Given the description of an element on the screen output the (x, y) to click on. 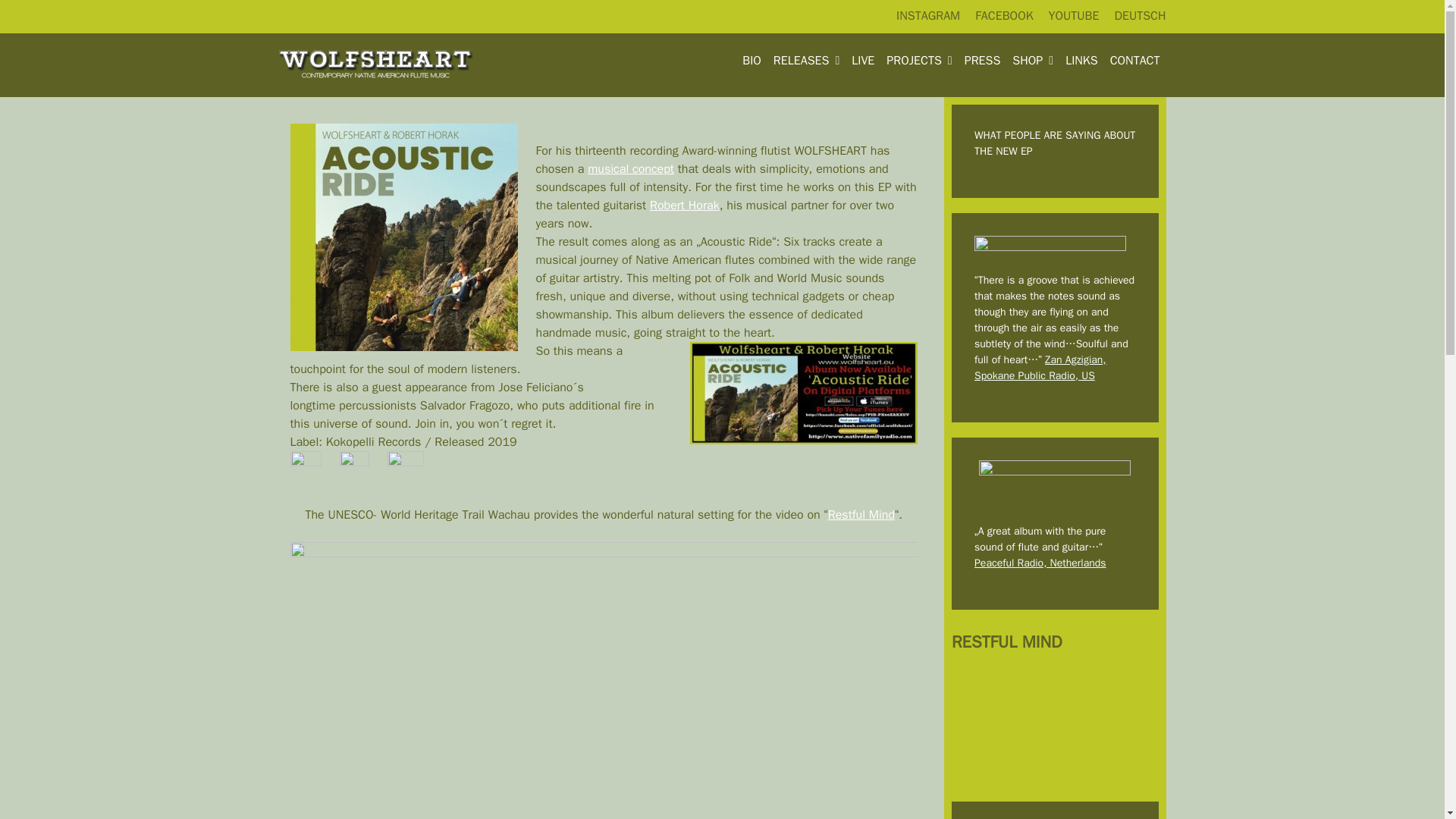
PROJECTS (919, 60)
Wolfsheart (375, 64)
INSTAGRAM (927, 15)
musical concept (631, 168)
CONTACT (1134, 60)
YOUTUBE (1073, 15)
LINKS (1081, 60)
Restful Mind (861, 513)
SHOP (1032, 60)
FACEBOOK (1003, 15)
PRESS (982, 60)
RELEASES (806, 60)
Zan Agzigian, Spokane Public Radio, US (1040, 367)
Robert Horak (684, 204)
Wolfsheart (375, 64)
